Given the description of an element on the screen output the (x, y) to click on. 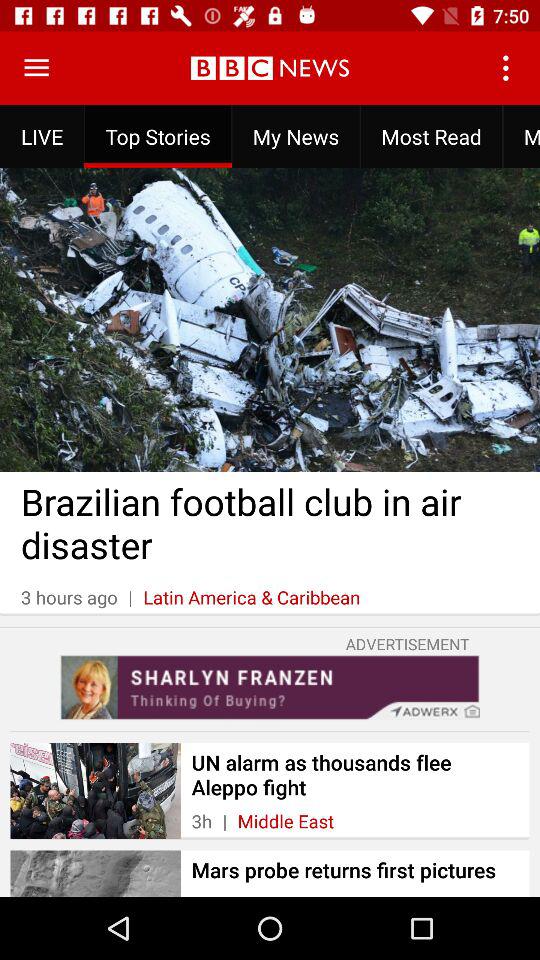
see full menu (36, 68)
